Given the description of an element on the screen output the (x, y) to click on. 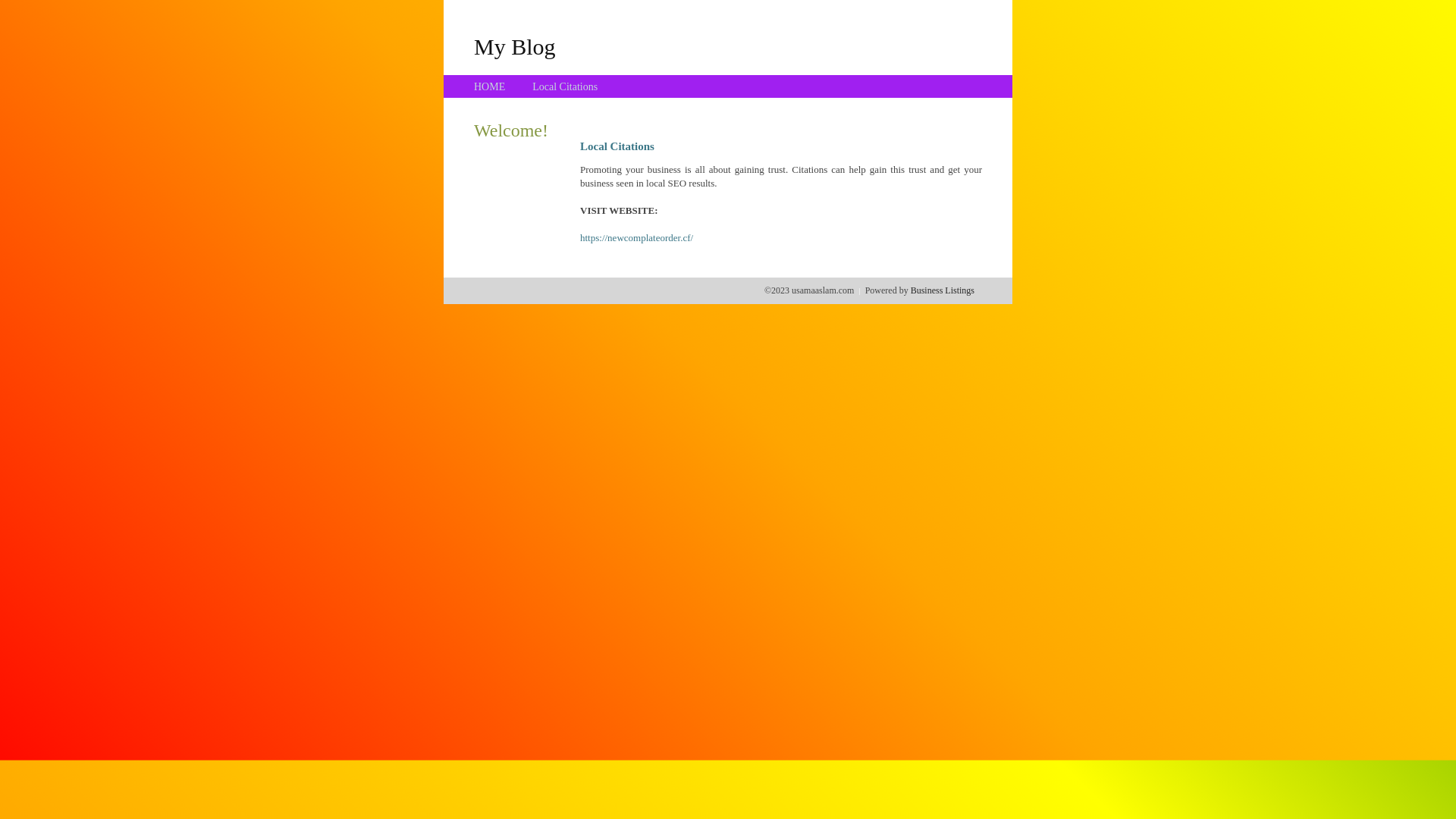
HOME Element type: text (489, 86)
Local Citations Element type: text (564, 86)
My Blog Element type: text (514, 46)
Business Listings Element type: text (942, 290)
https://newcomplateorder.cf/ Element type: text (636, 237)
